Given the description of an element on the screen output the (x, y) to click on. 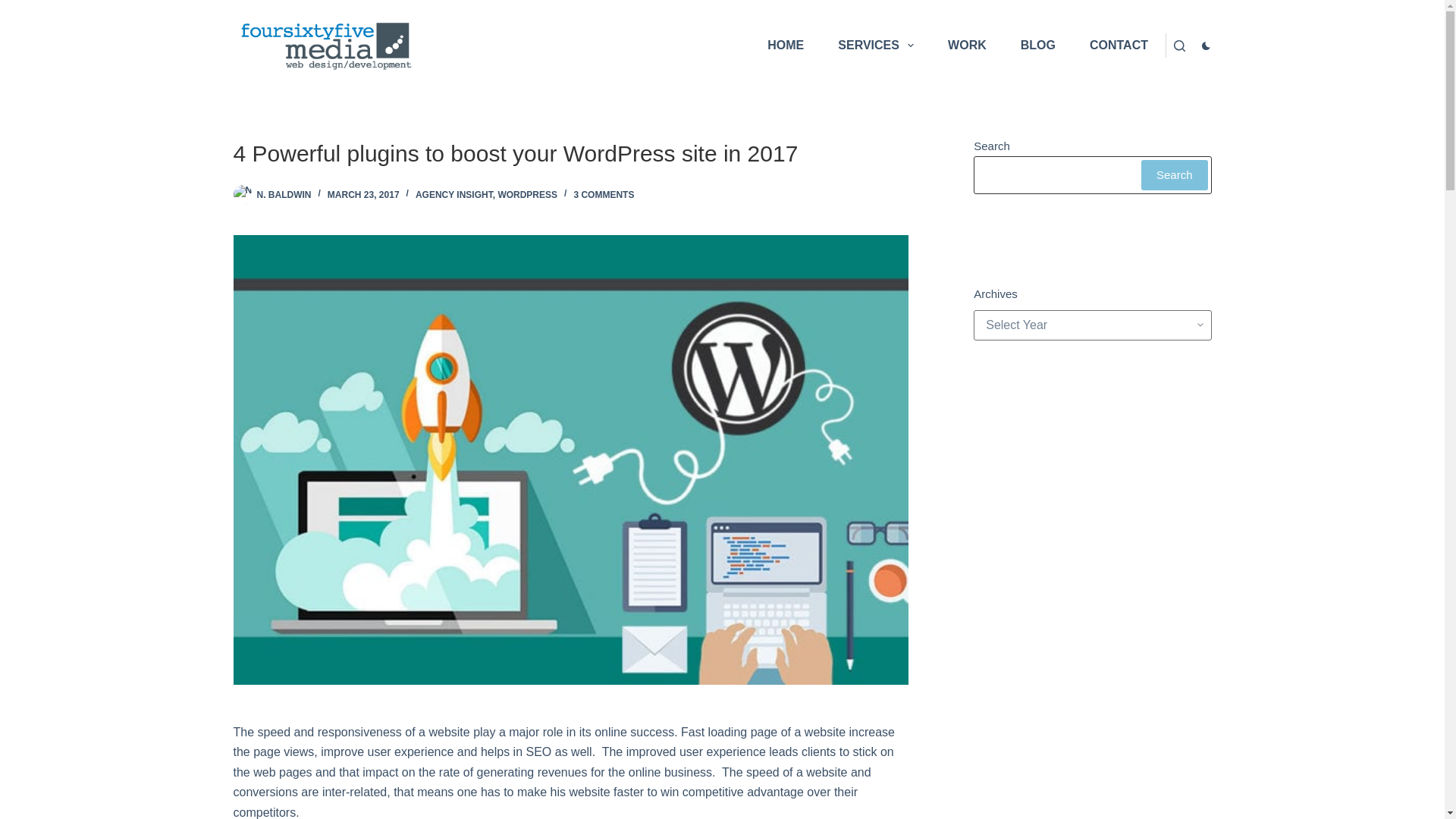
N. BALDWIN (283, 194)
3 COMMENTS (603, 194)
WORDPRESS (527, 194)
4 Powerful plugins to boost your WordPress site in 2017 (570, 153)
Posts by N. Baldwin (283, 194)
AGENCY INSIGHT (453, 194)
Skip to content (15, 7)
SERVICES (876, 45)
CONTACT (1117, 45)
